Given the description of an element on the screen output the (x, y) to click on. 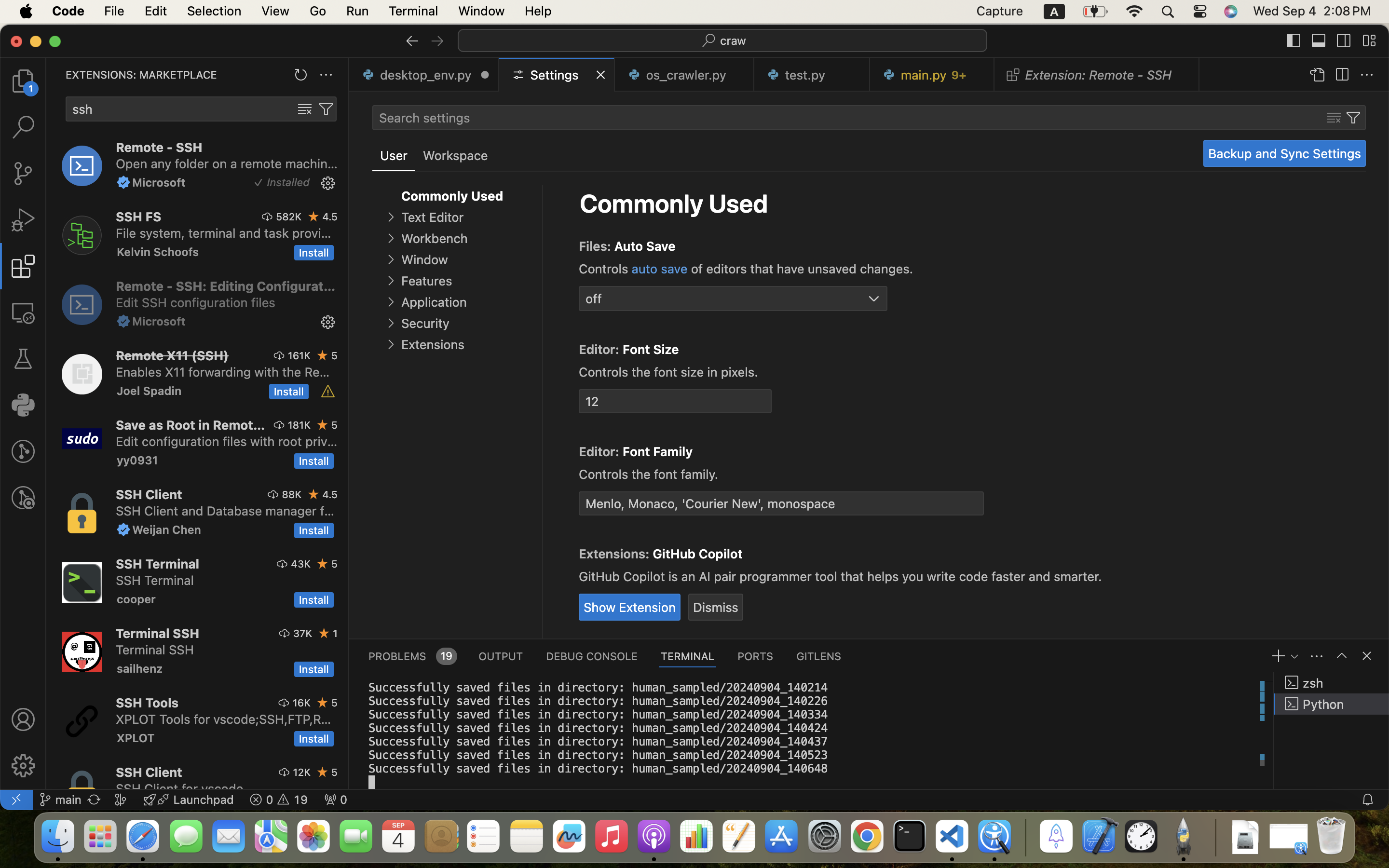
 Element type: AXButton (1366, 655)
Auto Save Element type: AXStaticText (645, 246)
181K Element type: AXStaticText (298, 424)
 Element type: AXCheckBox (1318, 40)
 Element type: AXCheckBox (1341, 655)
